Given the description of an element on the screen output the (x, y) to click on. 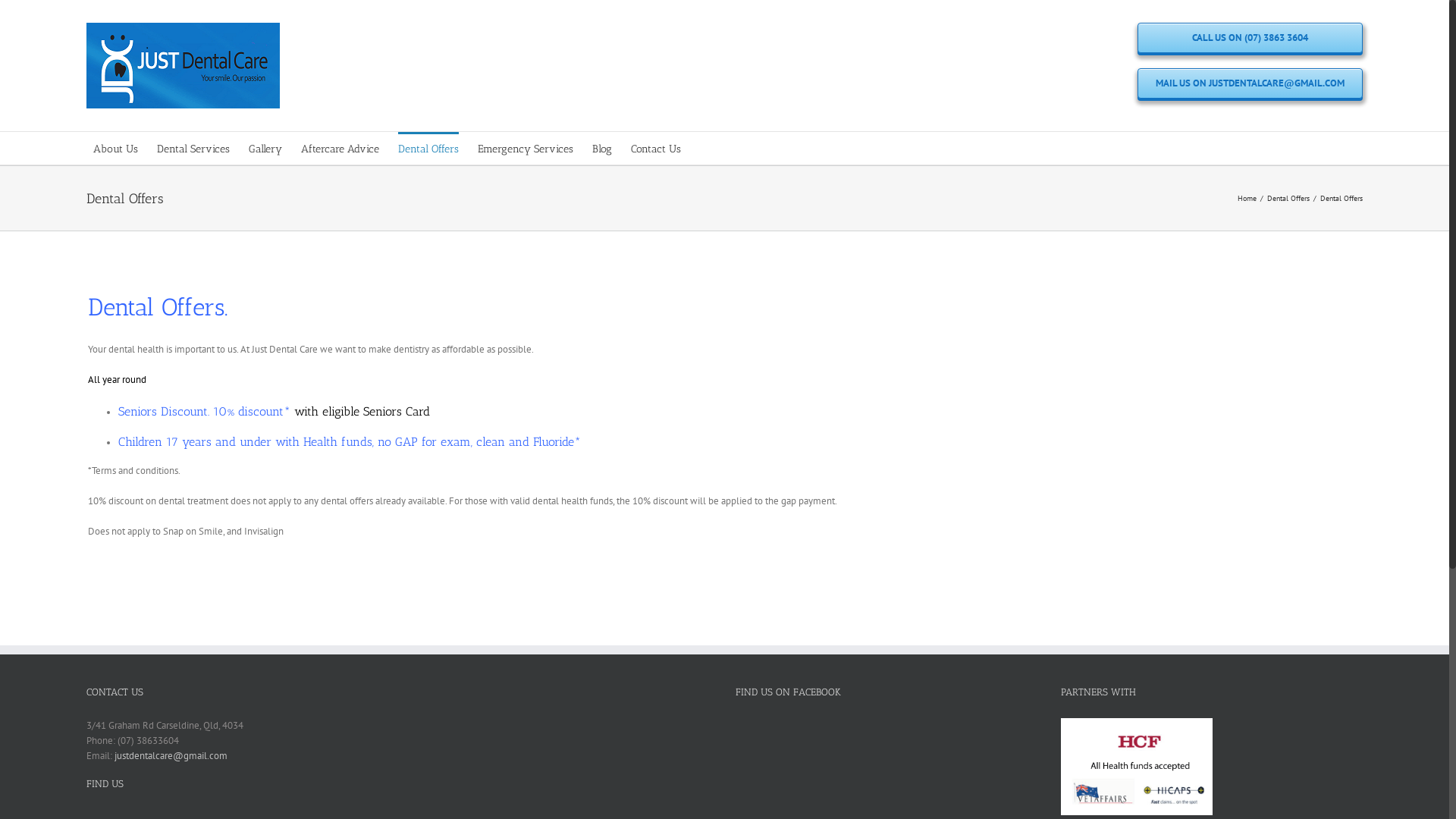
Dental Offers Element type: text (1288, 197)
Gallery Element type: text (265, 147)
justdentalcare@gmail.com Element type: text (170, 755)
CALL US ON (07) 3863 3604 Element type: text (1249, 37)
Home Element type: text (1246, 197)
Blog Element type: text (601, 147)
Aftercare Advice Element type: text (340, 147)
Dental Services Element type: text (192, 147)
Contact Us Element type: text (655, 147)
MAIL US ON JUSTDENTALCARE@GMAIL.COM Element type: text (1249, 83)
Emergency Services Element type: text (525, 147)
Dental Offers Element type: text (428, 147)
About Us Element type: text (115, 147)
